Given the description of an element on the screen output the (x, y) to click on. 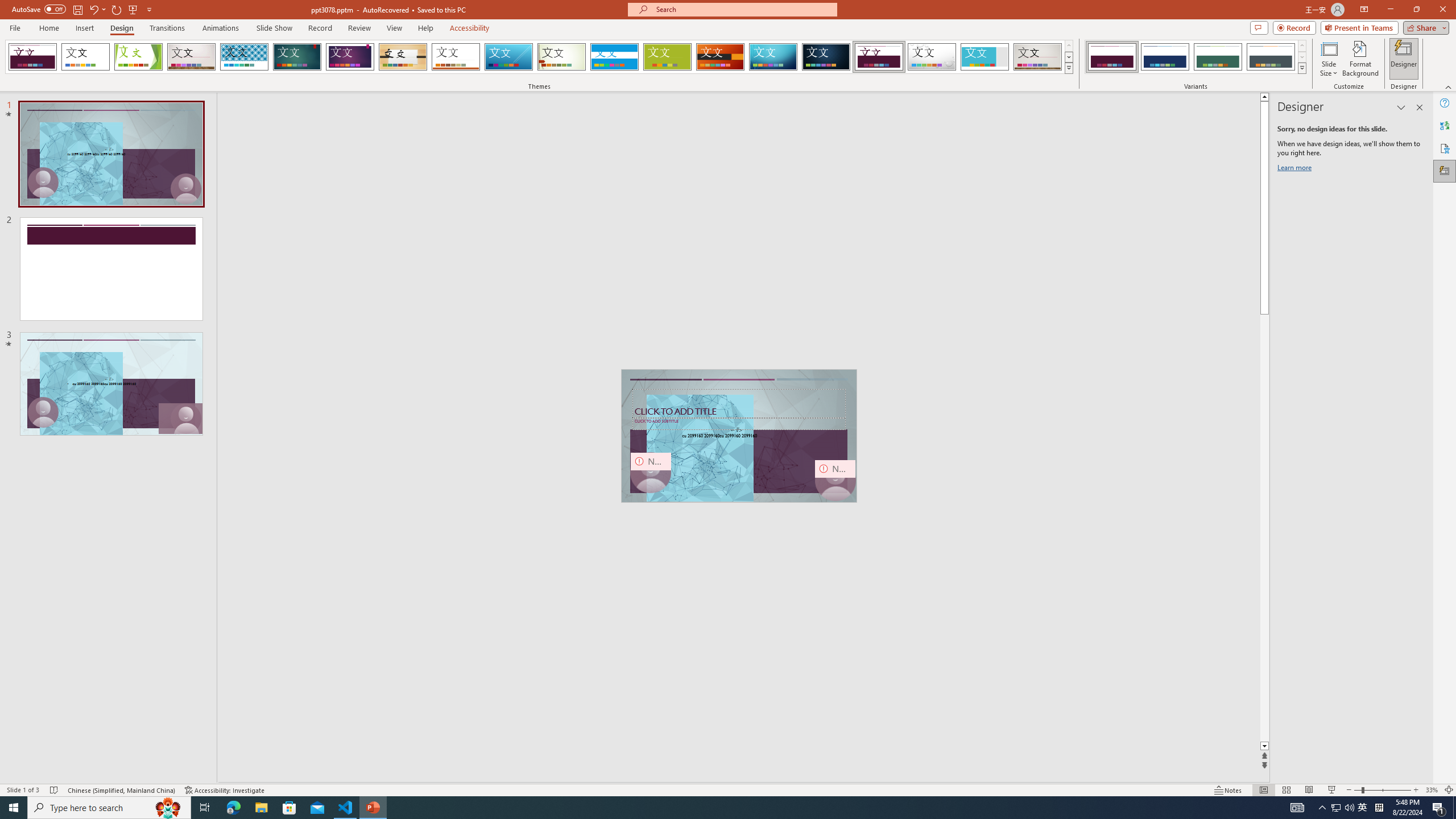
Undo (96, 9)
Droplet (931, 56)
TextBox 61 (737, 436)
Title TextBox (738, 403)
Comments (1259, 27)
Ribbon Display Options (1364, 9)
Berlin (720, 56)
Translator (1444, 125)
Close (1442, 9)
AutoSave (38, 9)
Retrospect (455, 56)
Line down (1264, 746)
More Options (103, 9)
Organic (403, 56)
Subtitle TextBox (738, 423)
